Given the description of an element on the screen output the (x, y) to click on. 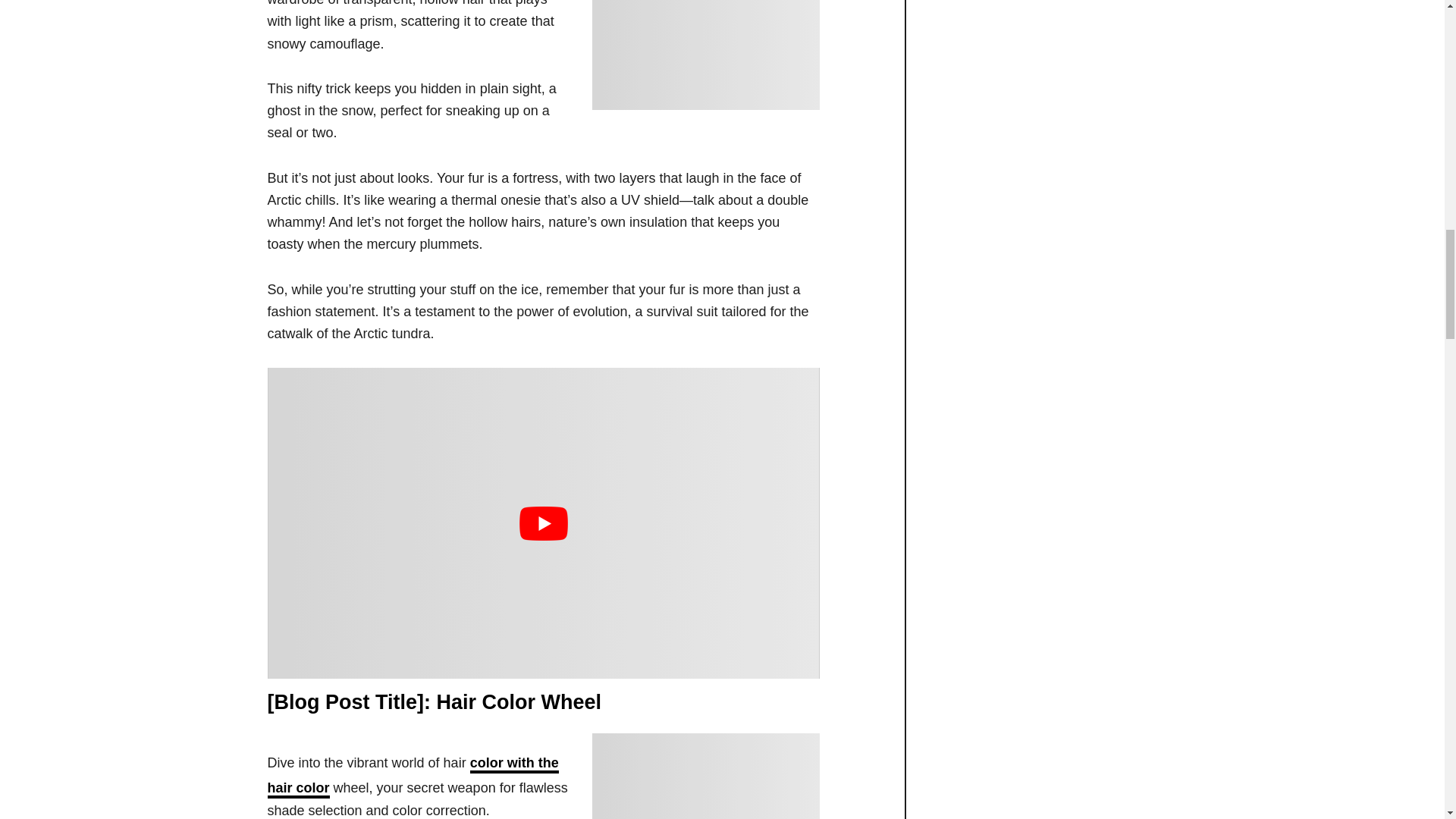
color with the hair color (411, 776)
